Given the description of an element on the screen output the (x, y) to click on. 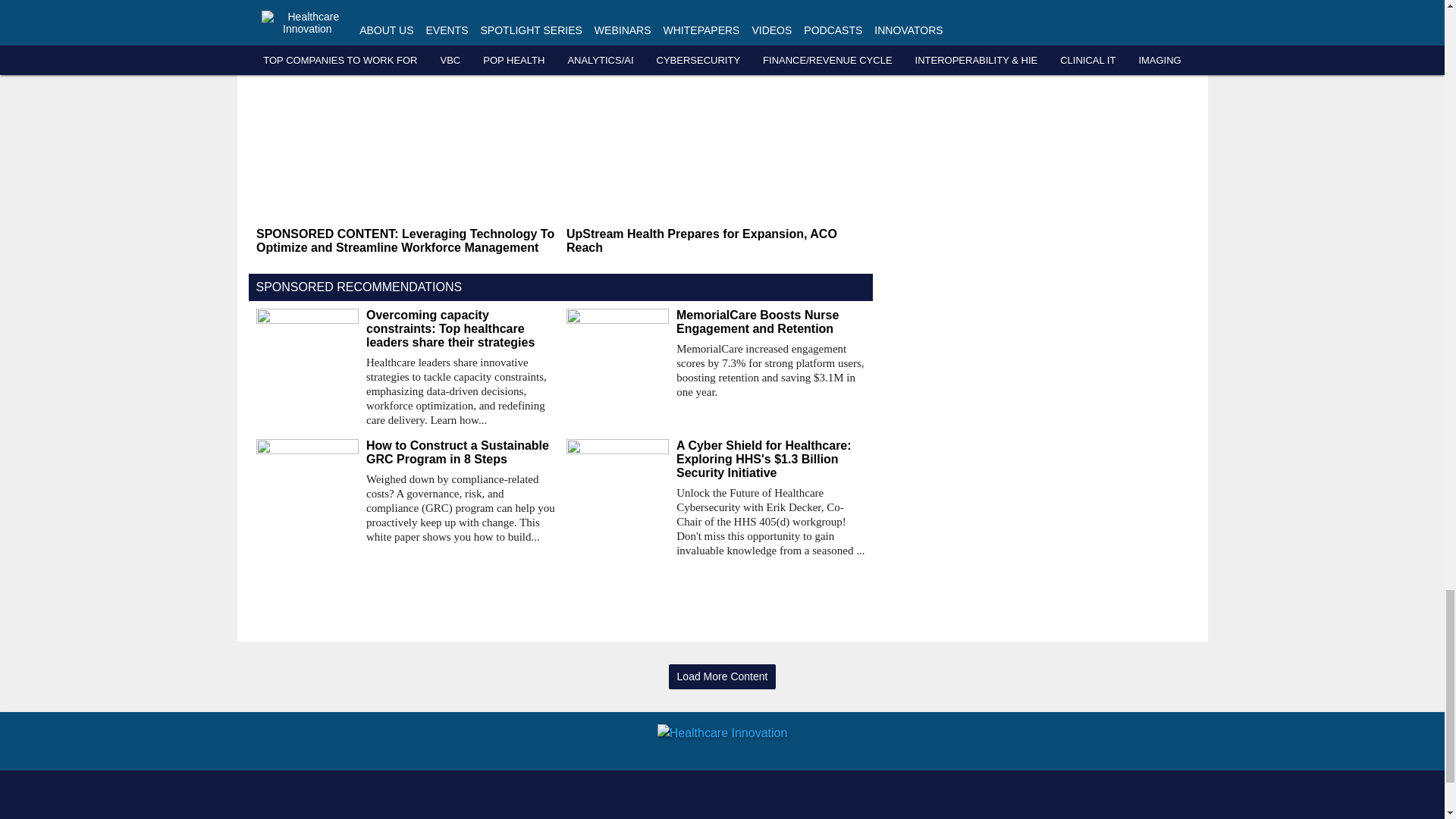
How to Construct a Sustainable GRC Program in 8 Steps (459, 452)
MemorialCare Boosts Nurse Engagement and Retention (770, 321)
UpStream Health Prepares for Expansion, ACO Reach (715, 240)
